Given the description of an element on the screen output the (x, y) to click on. 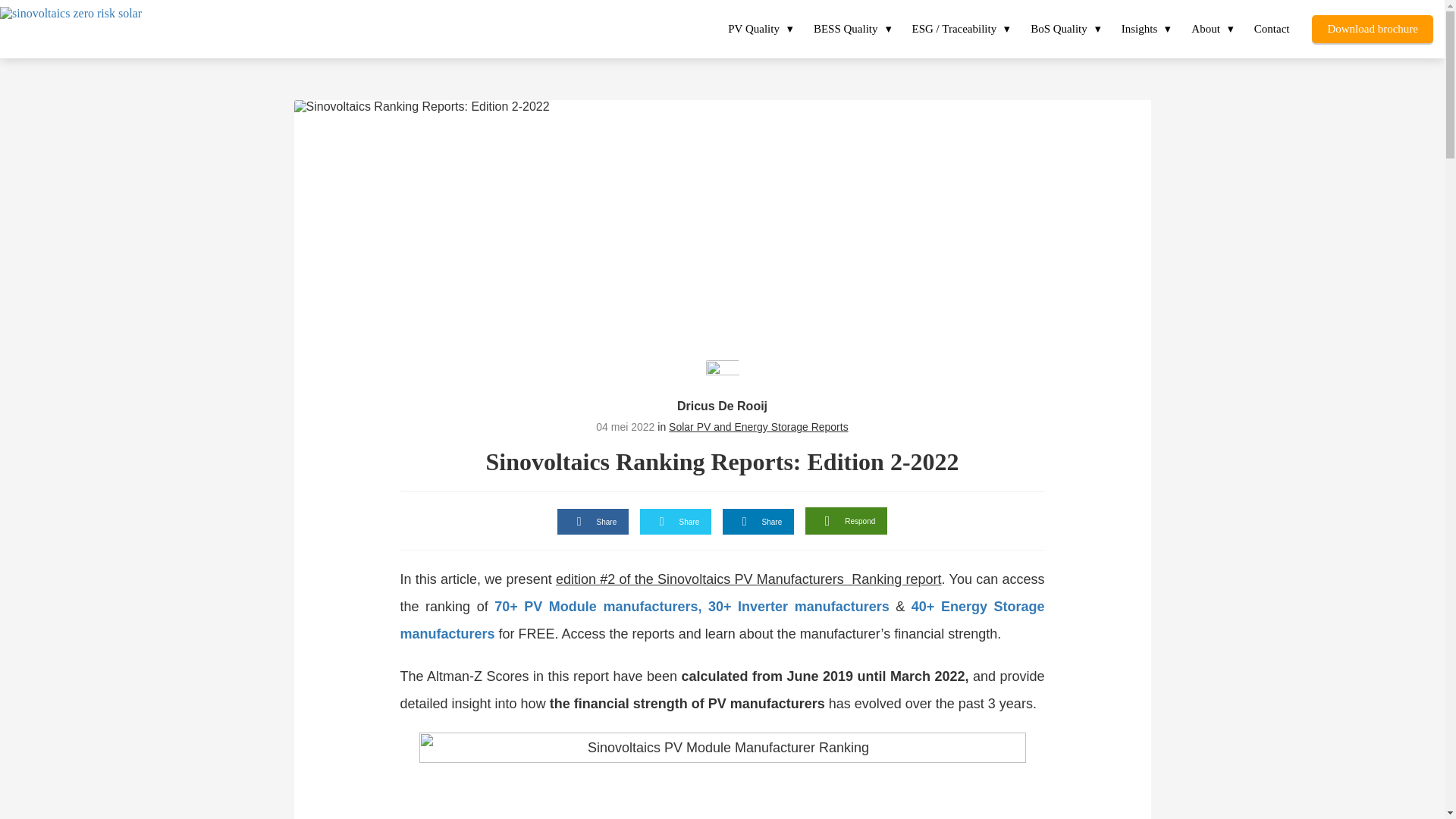
Sinovoltaics PV Module Manufacturer Ranking (722, 775)
Contact (1272, 28)
